Given the description of an element on the screen output the (x, y) to click on. 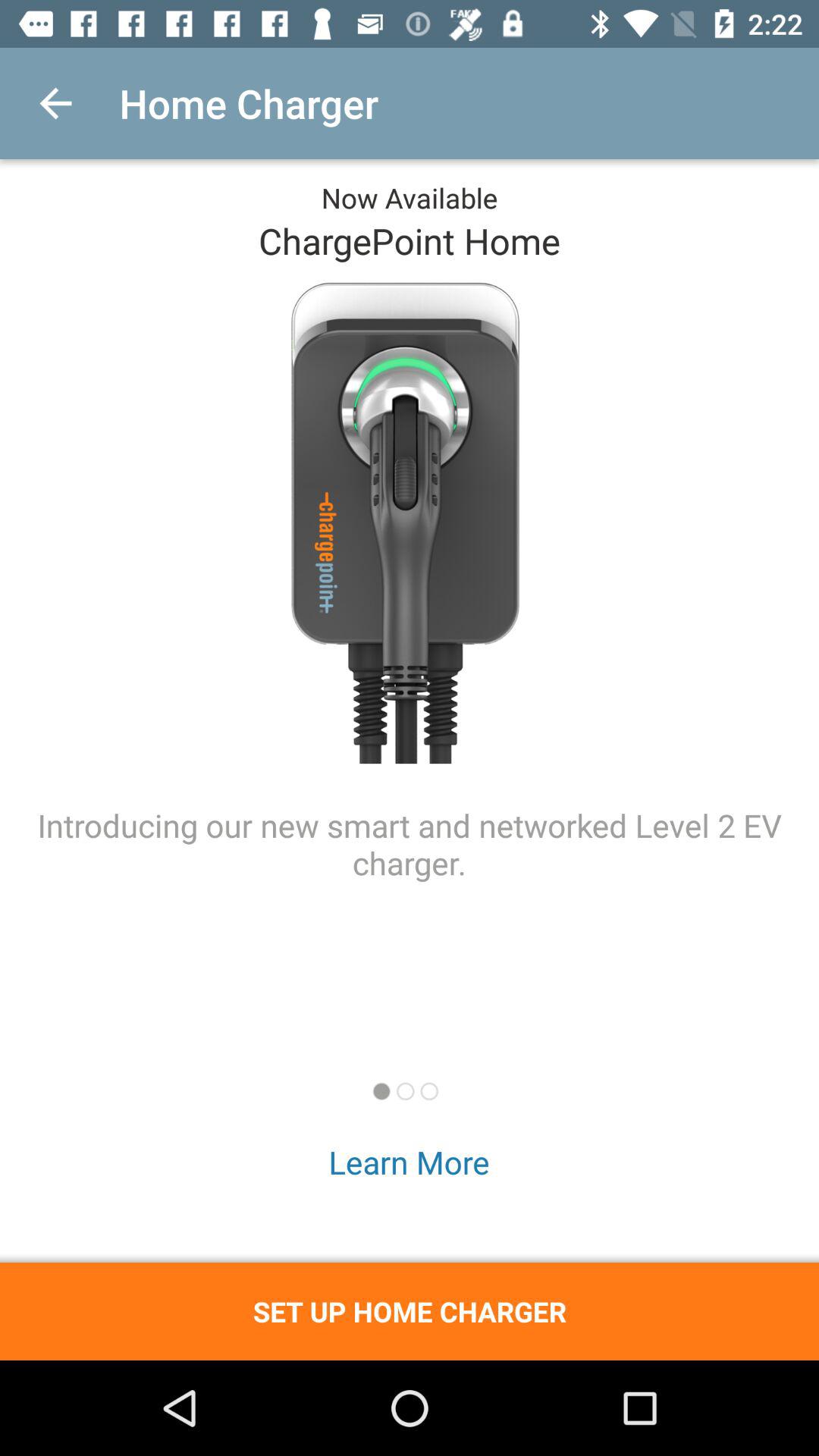
open the icon above introducing our new (55, 103)
